Given the description of an element on the screen output the (x, y) to click on. 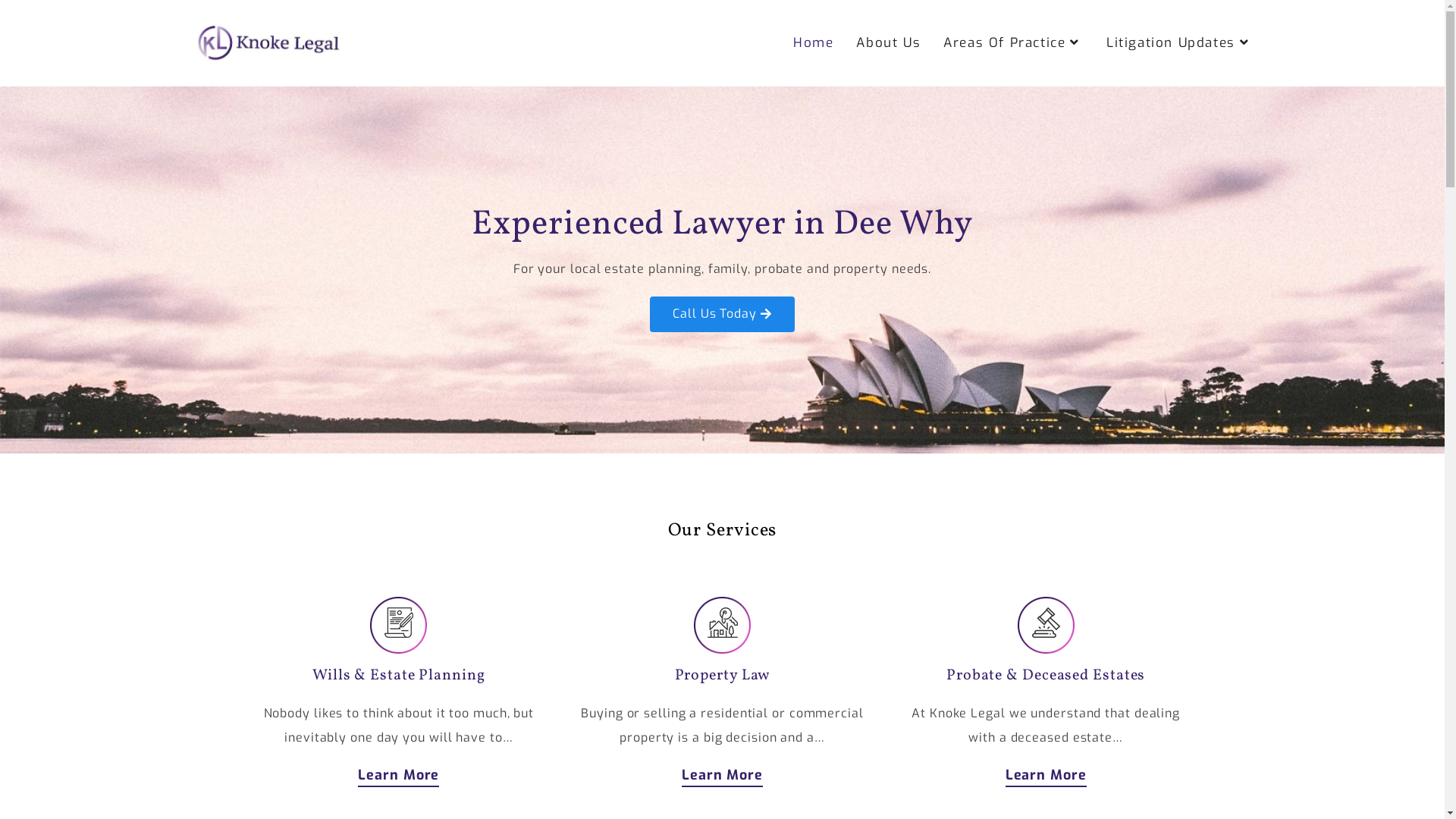
Learn More Element type: text (1045, 777)
Learn More Element type: text (398, 777)
Litigation Updates Element type: text (1179, 43)
Wills & Estate Planning Element type: text (398, 675)
Call Us Today Element type: text (721, 314)
Property Law Element type: text (722, 675)
Areas Of Practice Element type: text (1013, 43)
Home Element type: text (812, 43)
About Us Element type: text (887, 43)
Probate & Deceased Estates Element type: text (1045, 675)
Learn More Element type: text (721, 777)
